Given the description of an element on the screen output the (x, y) to click on. 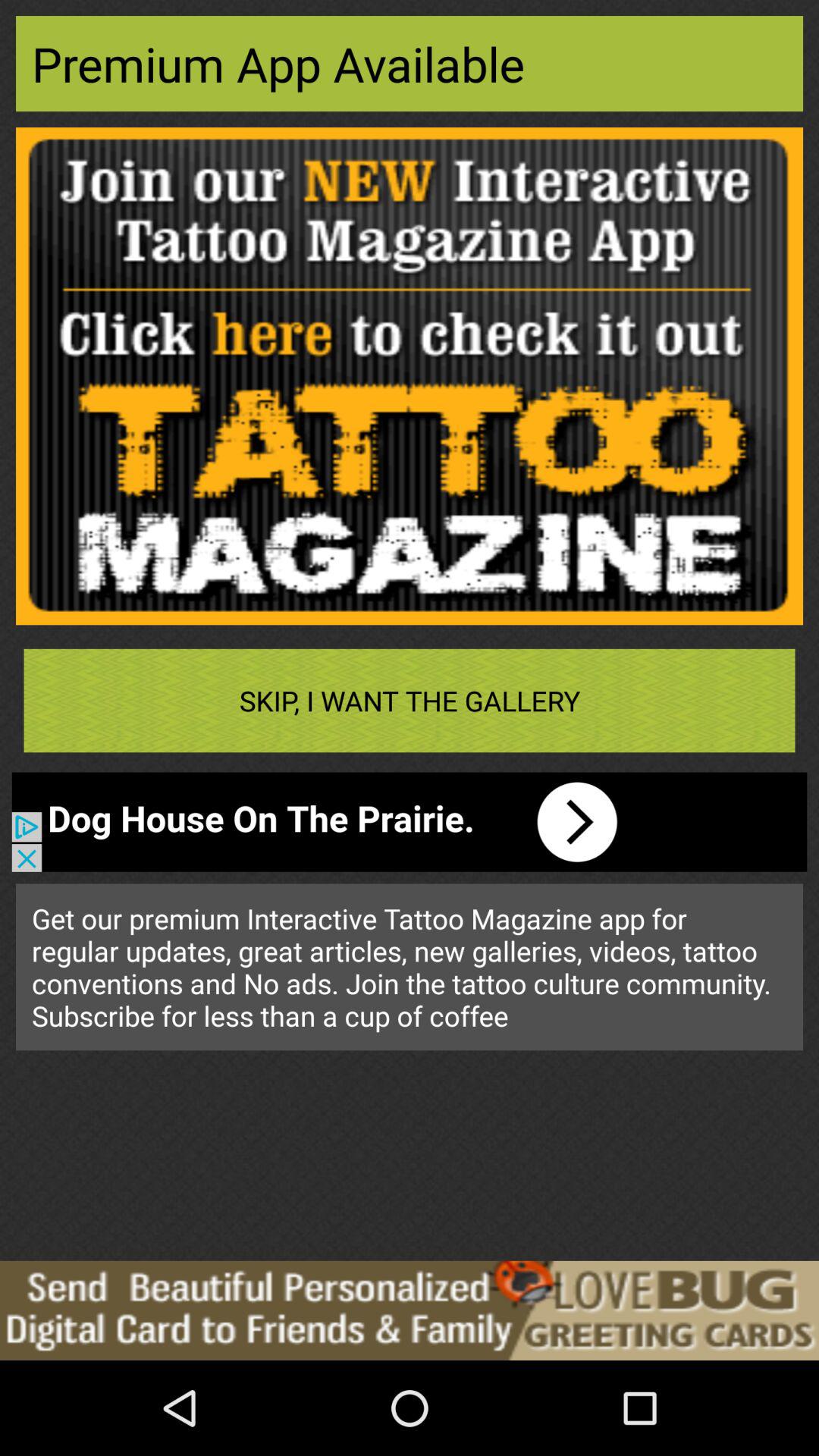
advertisement bar (409, 1310)
